Given the description of an element on the screen output the (x, y) to click on. 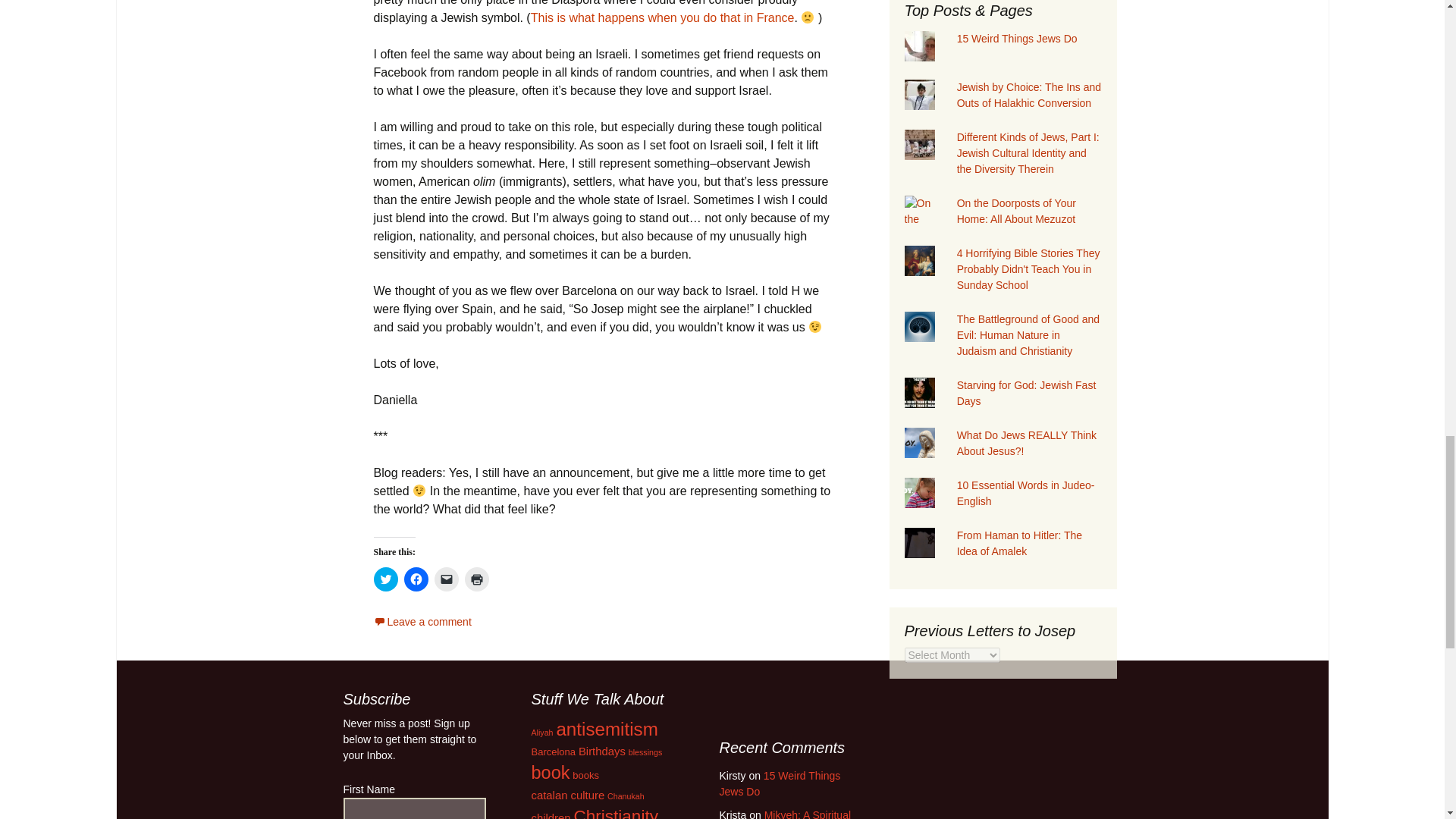
15 Weird Things Jews Do (1016, 38)
Click to email a link to a friend (445, 579)
This is what happens when you do that in France (662, 17)
Click to share on Twitter (384, 579)
Jewish by Choice: The Ins and Outs of Halakhic Conversion (1028, 94)
Leave a comment (421, 621)
Click to share on Facebook (415, 579)
Click to print (475, 579)
